Given the description of an element on the screen output the (x, y) to click on. 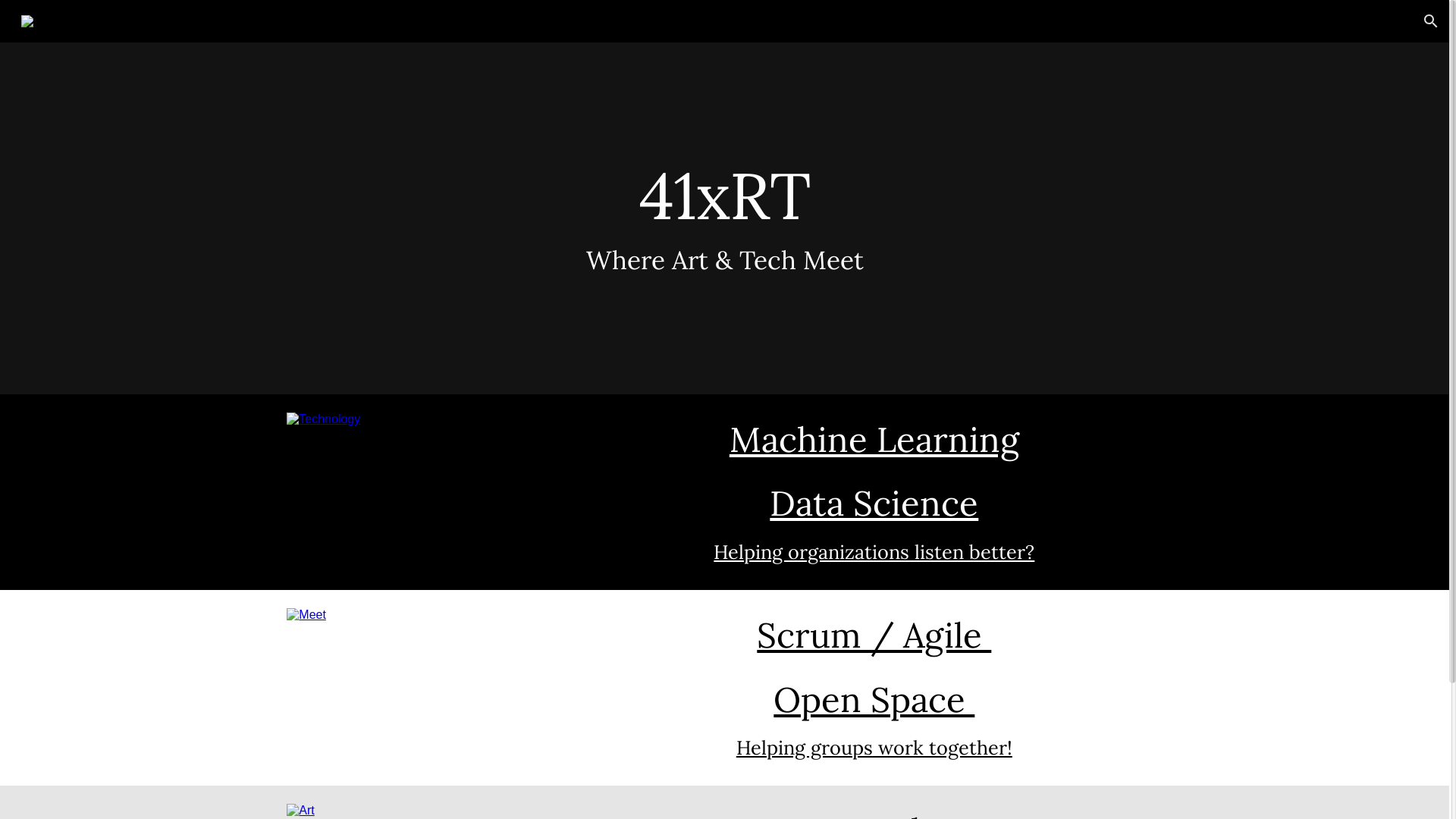
Data Science Element type: text (873, 502)
Helping organizations listen better? Element type: text (873, 551)
Scrum / Agile  Element type: text (873, 634)
Machine Learning Element type: text (874, 439)
Helping groups work together! Element type: text (874, 747)
Open Space  Element type: text (873, 699)
